Given the description of an element on the screen output the (x, y) to click on. 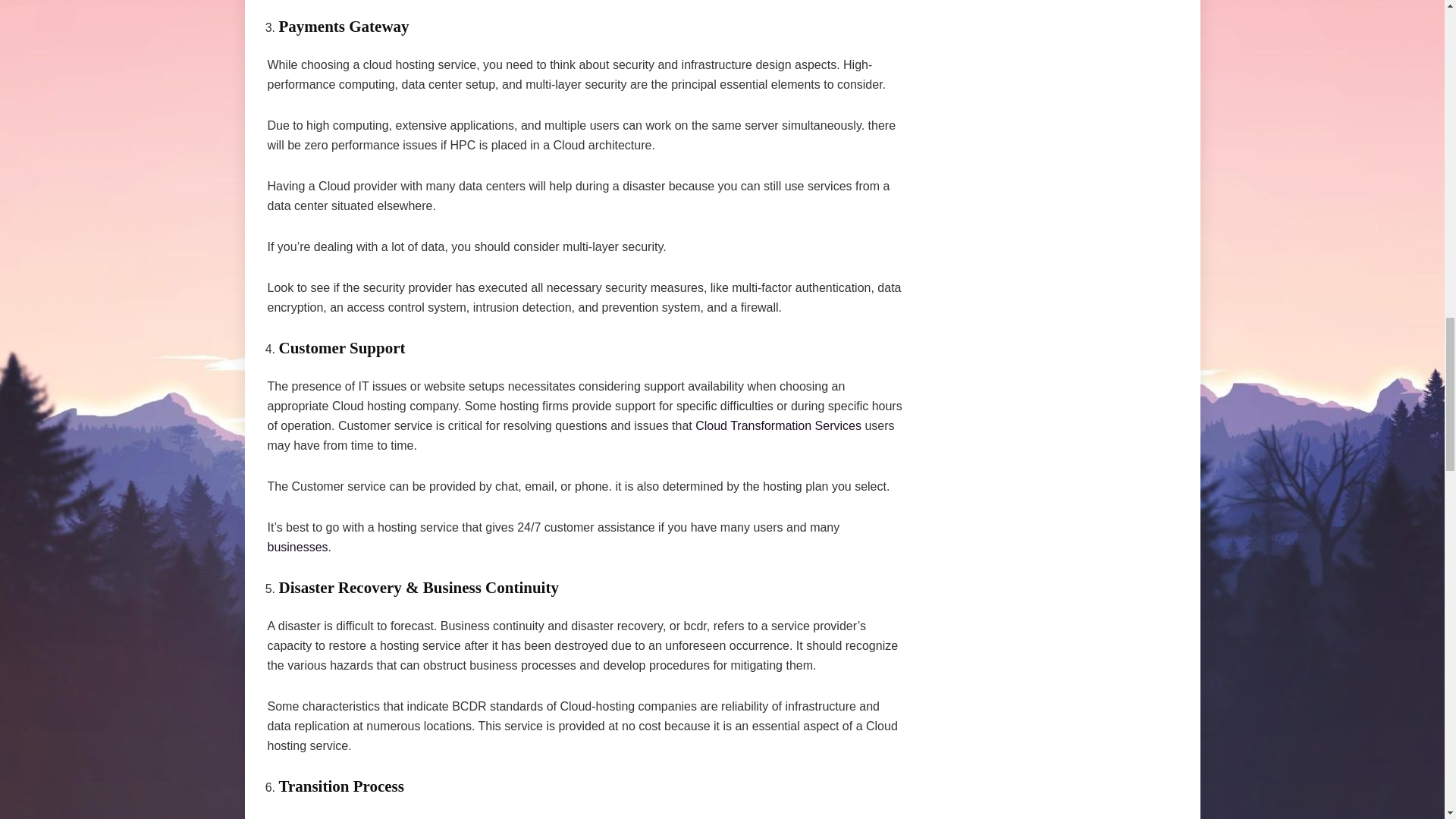
Cloud Transformation Services (778, 425)
businesses (296, 546)
